Given the description of an element on the screen output the (x, y) to click on. 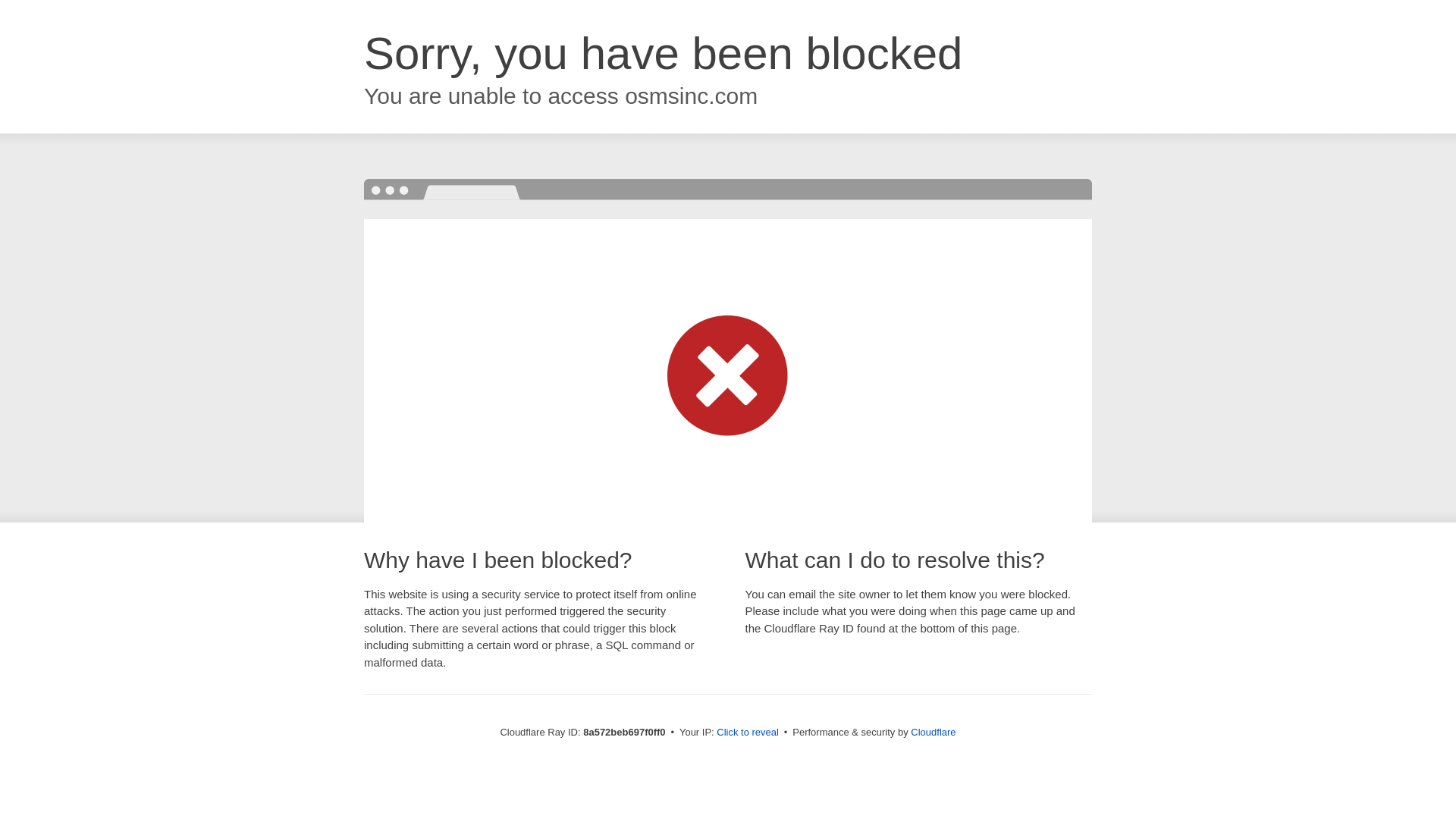
Cloudflare (933, 731)
Click to reveal (747, 732)
